Given the description of an element on the screen output the (x, y) to click on. 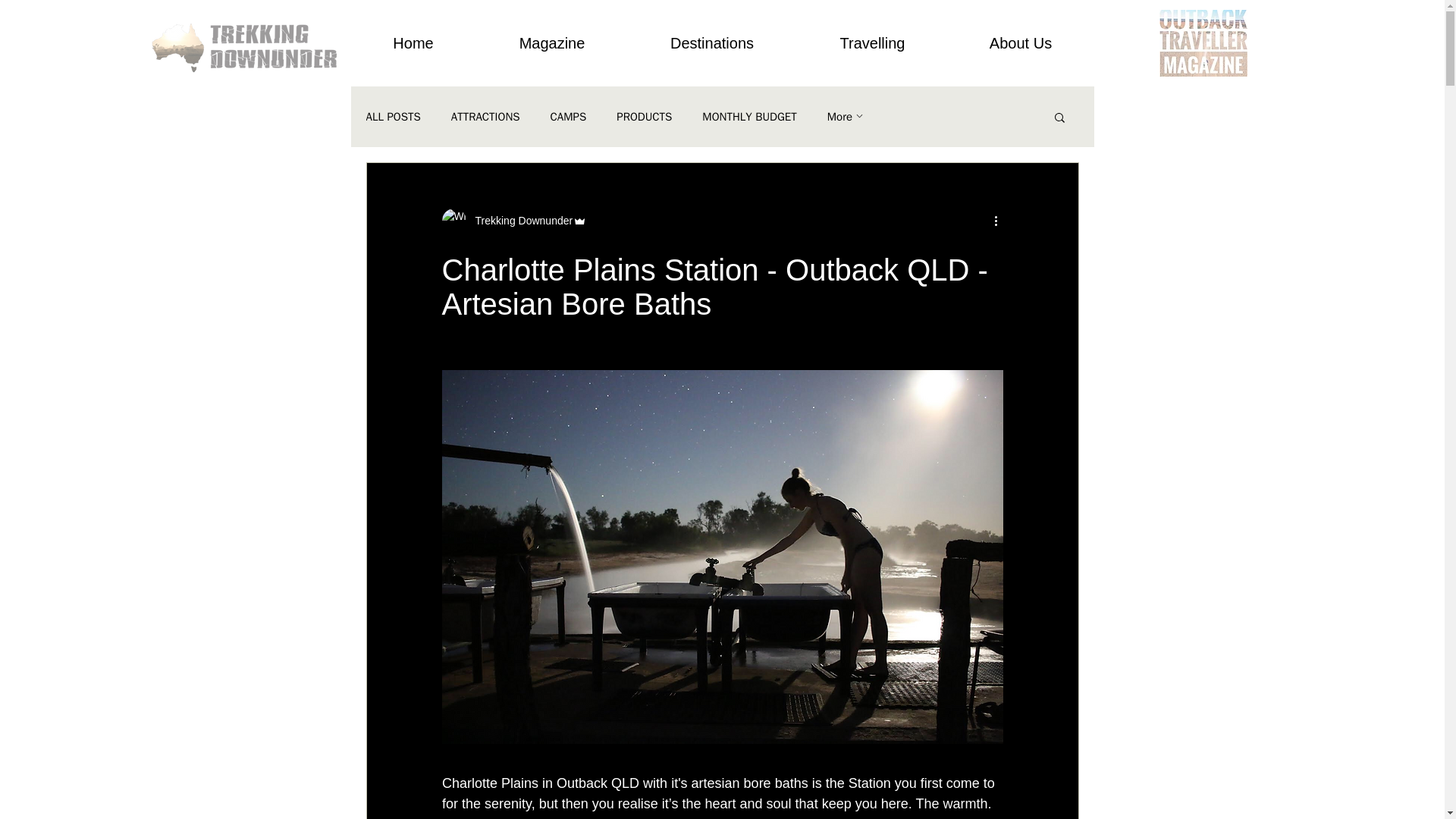
Destinations (711, 42)
Magazine (551, 42)
Trekking Downunder (518, 220)
CAMPS (568, 115)
MONTHLY BUDGET (748, 115)
ATTRACTIONS (485, 115)
PRODUCTS (643, 115)
Home (413, 42)
ALL POSTS (392, 115)
